Given the description of an element on the screen output the (x, y) to click on. 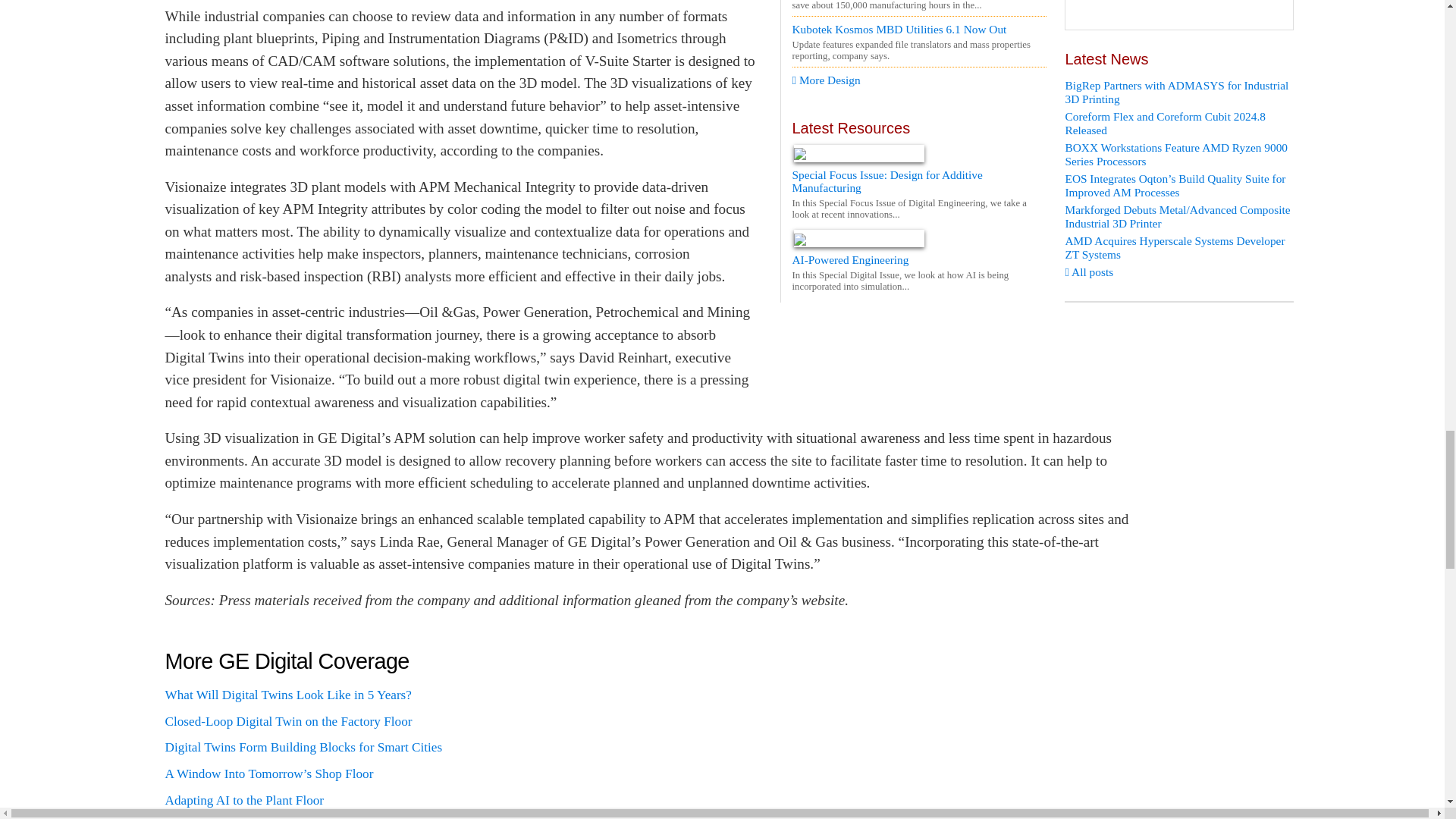
Kubotek Kosmos MBD Utilities 6.1 Now Out  (918, 29)
Special Focus Issue: Design for Additive Manufacturing (918, 193)
AI-Powered Engineering (918, 271)
